Given the description of an element on the screen output the (x, y) to click on. 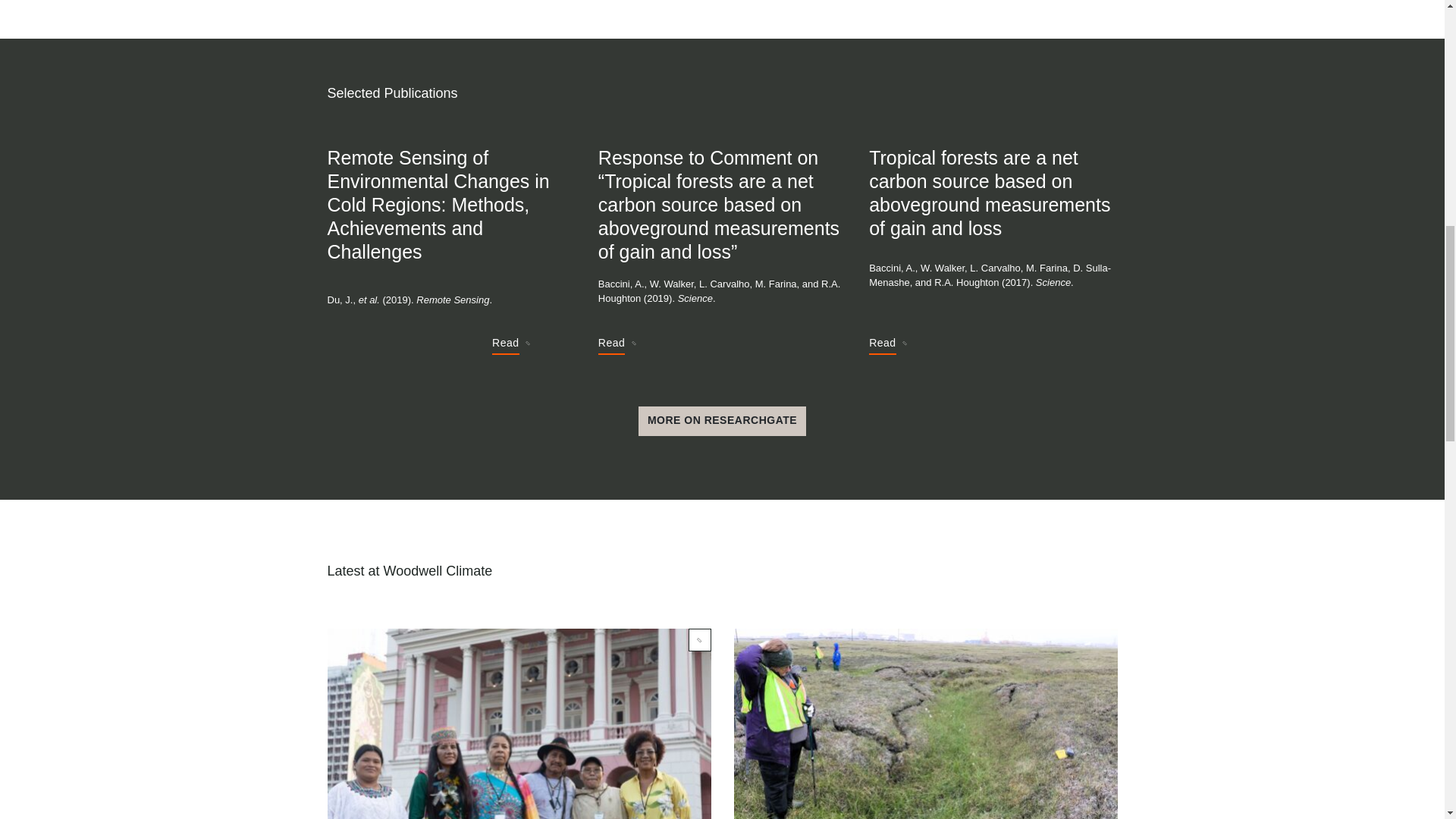
Read (887, 345)
Read (616, 345)
Read (510, 345)
MORE ON RESEARCHGATE (722, 421)
